Given the description of an element on the screen output the (x, y) to click on. 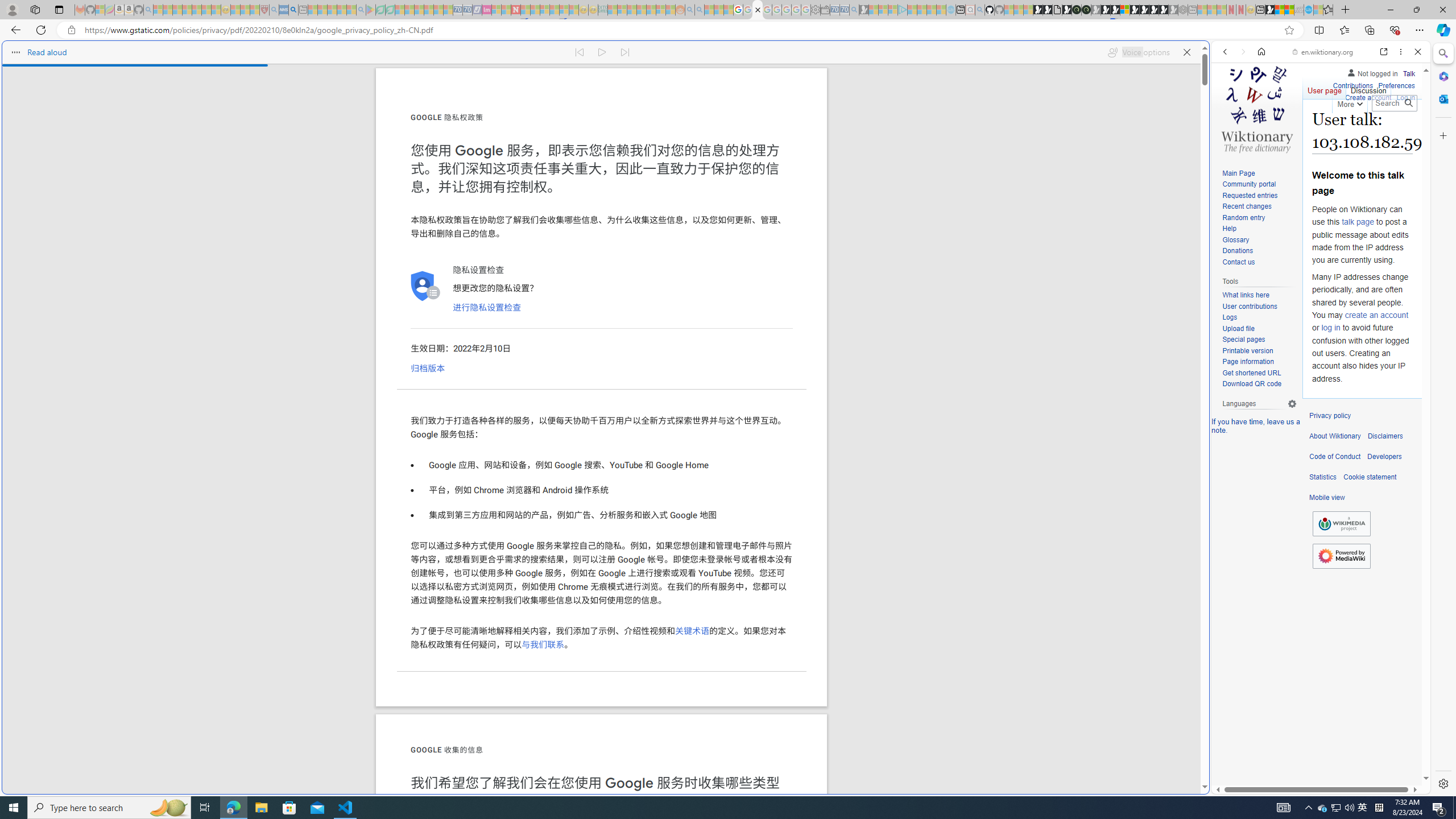
Upload file (1259, 328)
AutomationID: footer-poweredbyico (1341, 555)
Recent changes (1259, 206)
Log in (1405, 96)
Play Zoo Boom in your browser | Games from Microsoft Start (1047, 9)
